Given the description of an element on the screen output the (x, y) to click on. 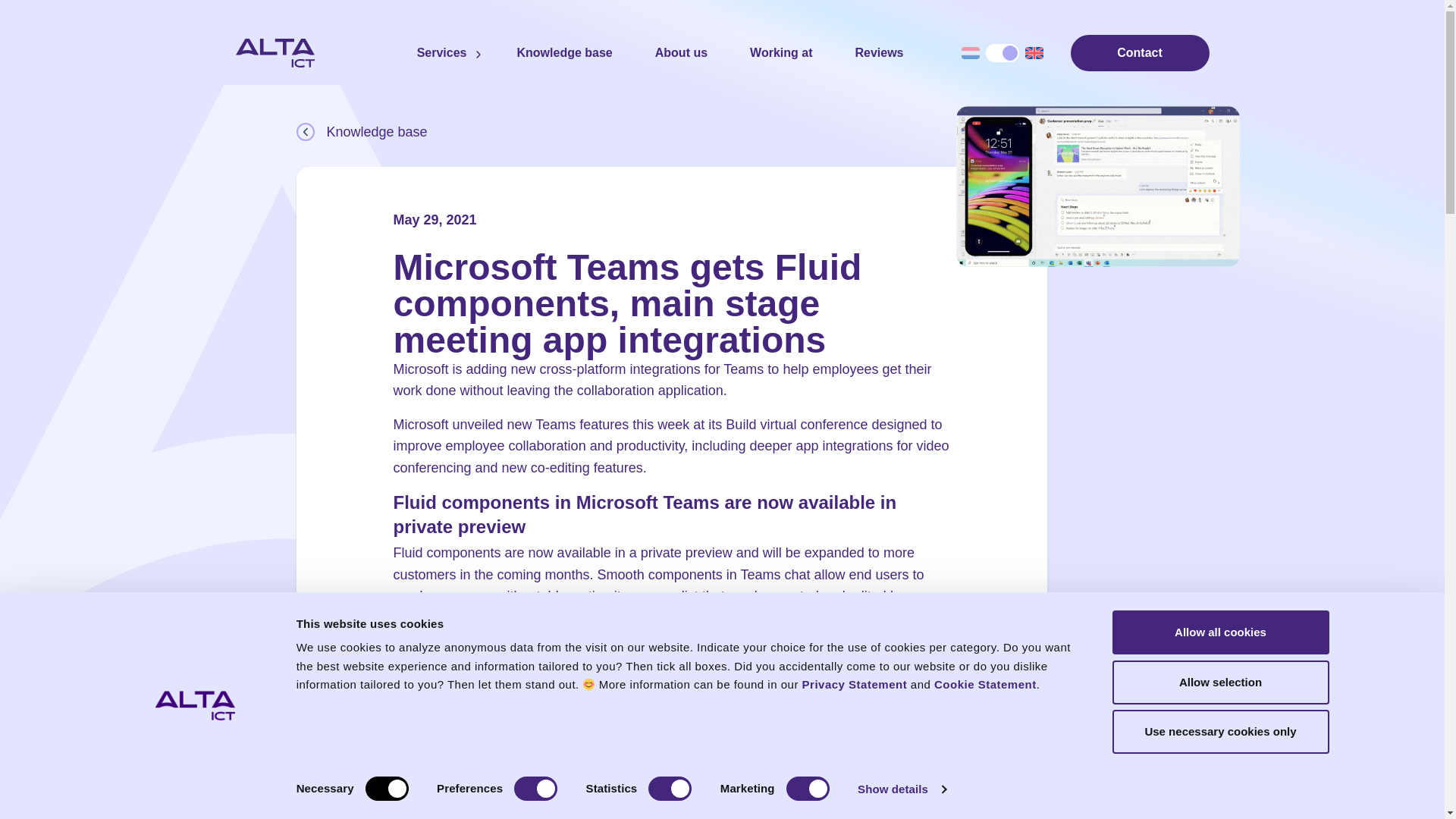
Cookie Statement (985, 684)
Privacy Statement (854, 684)
Show details (900, 789)
